Given the description of an element on the screen output the (x, y) to click on. 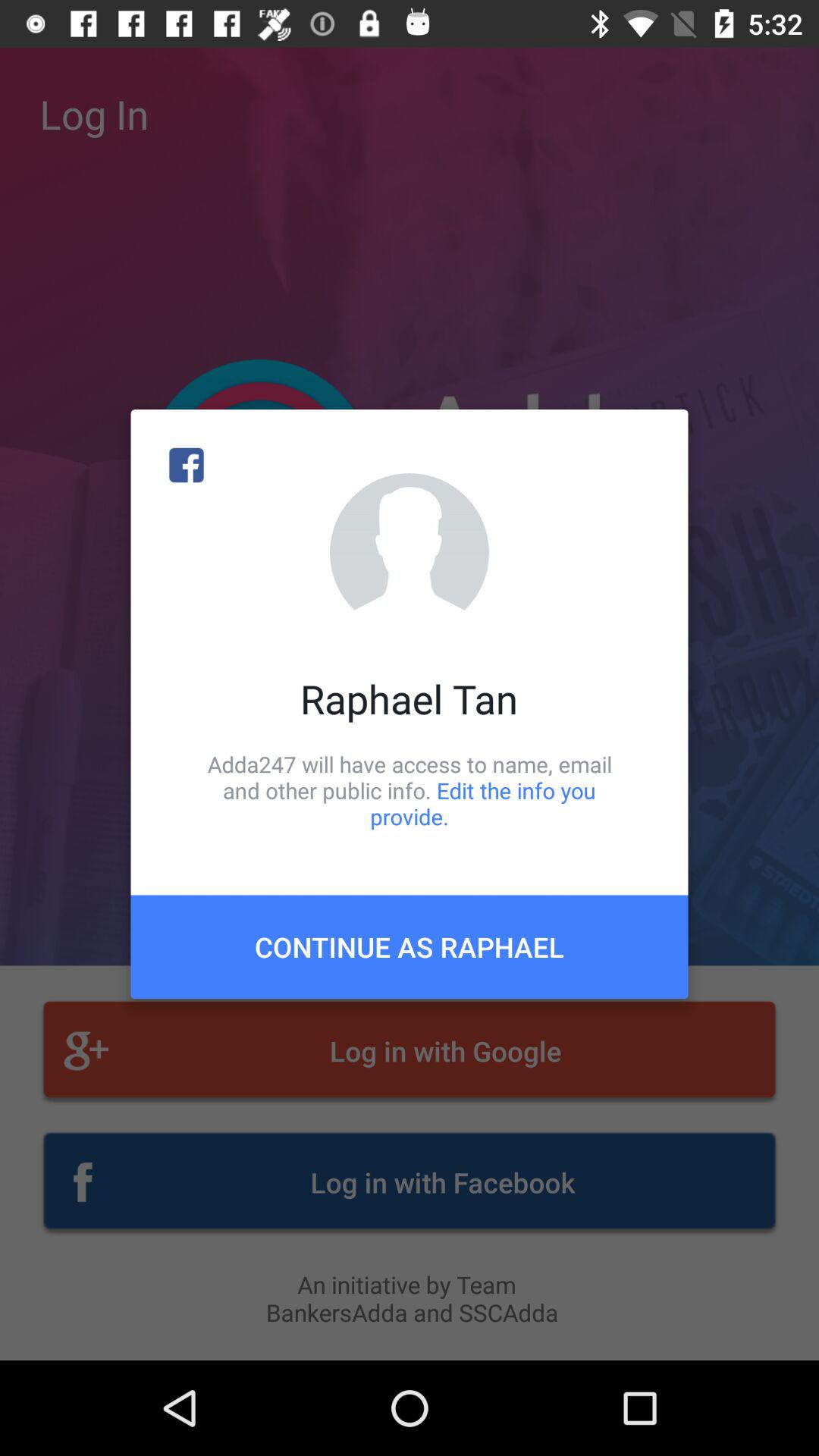
scroll until the continue as raphael (409, 946)
